Given the description of an element on the screen output the (x, y) to click on. 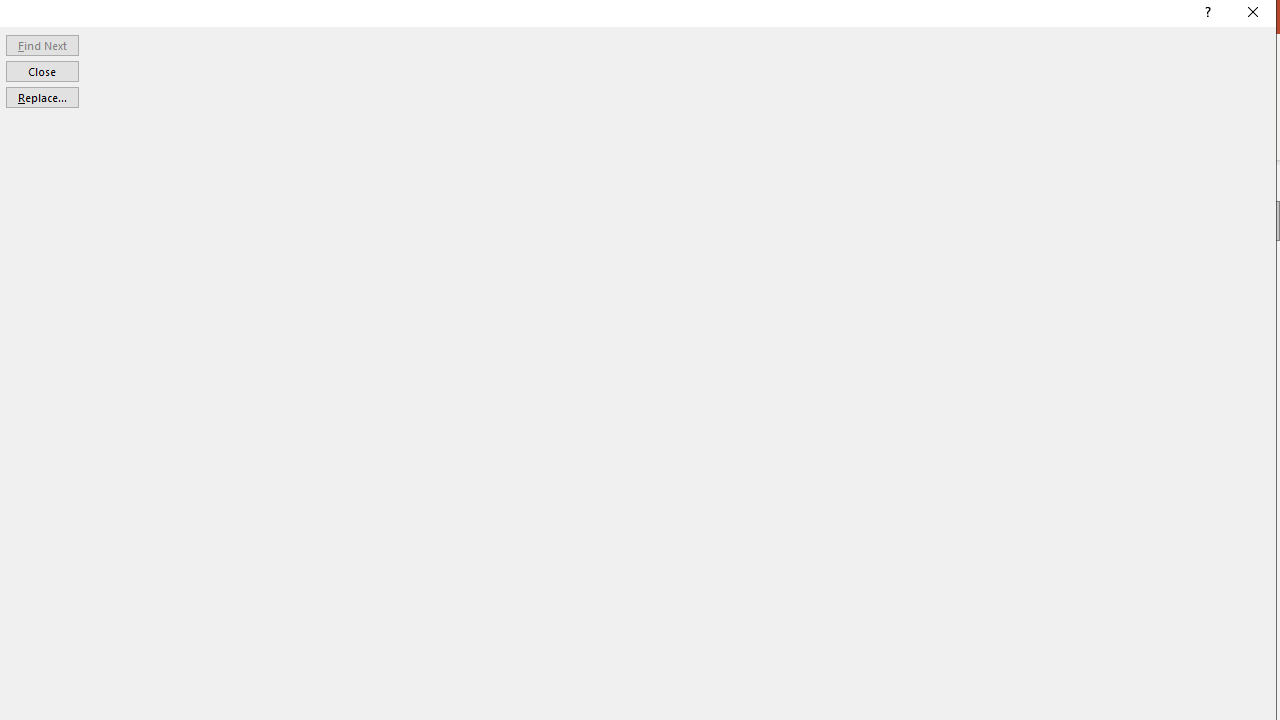
Find Next (42, 44)
